Given the description of an element on the screen output the (x, y) to click on. 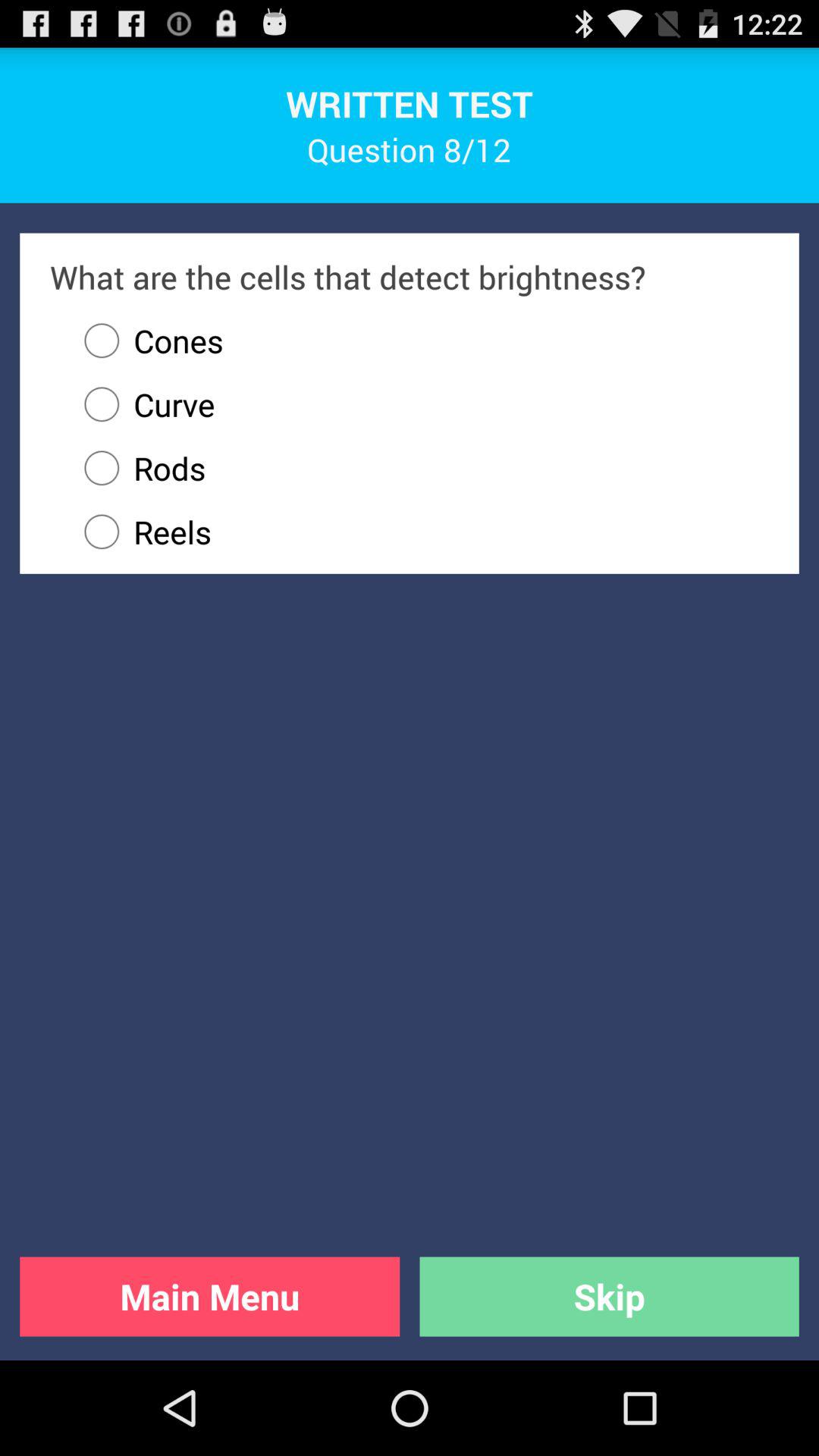
select the item below the rods item (418, 531)
